Given the description of an element on the screen output the (x, y) to click on. 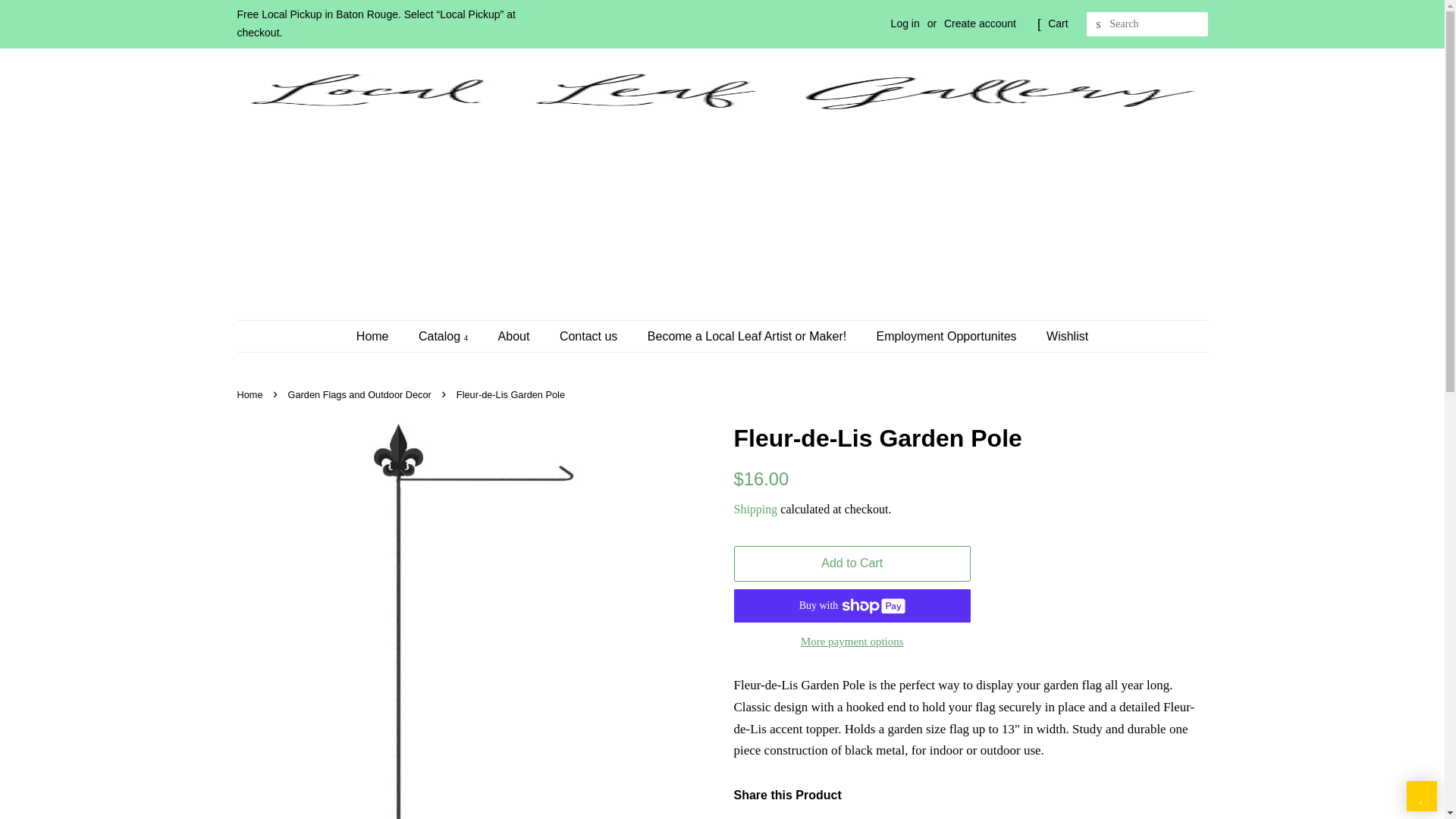
Create account (979, 23)
Back to the frontpage (250, 394)
Search (1097, 24)
Cart (1057, 24)
Log in (905, 23)
Catalog (445, 336)
Home (380, 336)
